Given the description of an element on the screen output the (x, y) to click on. 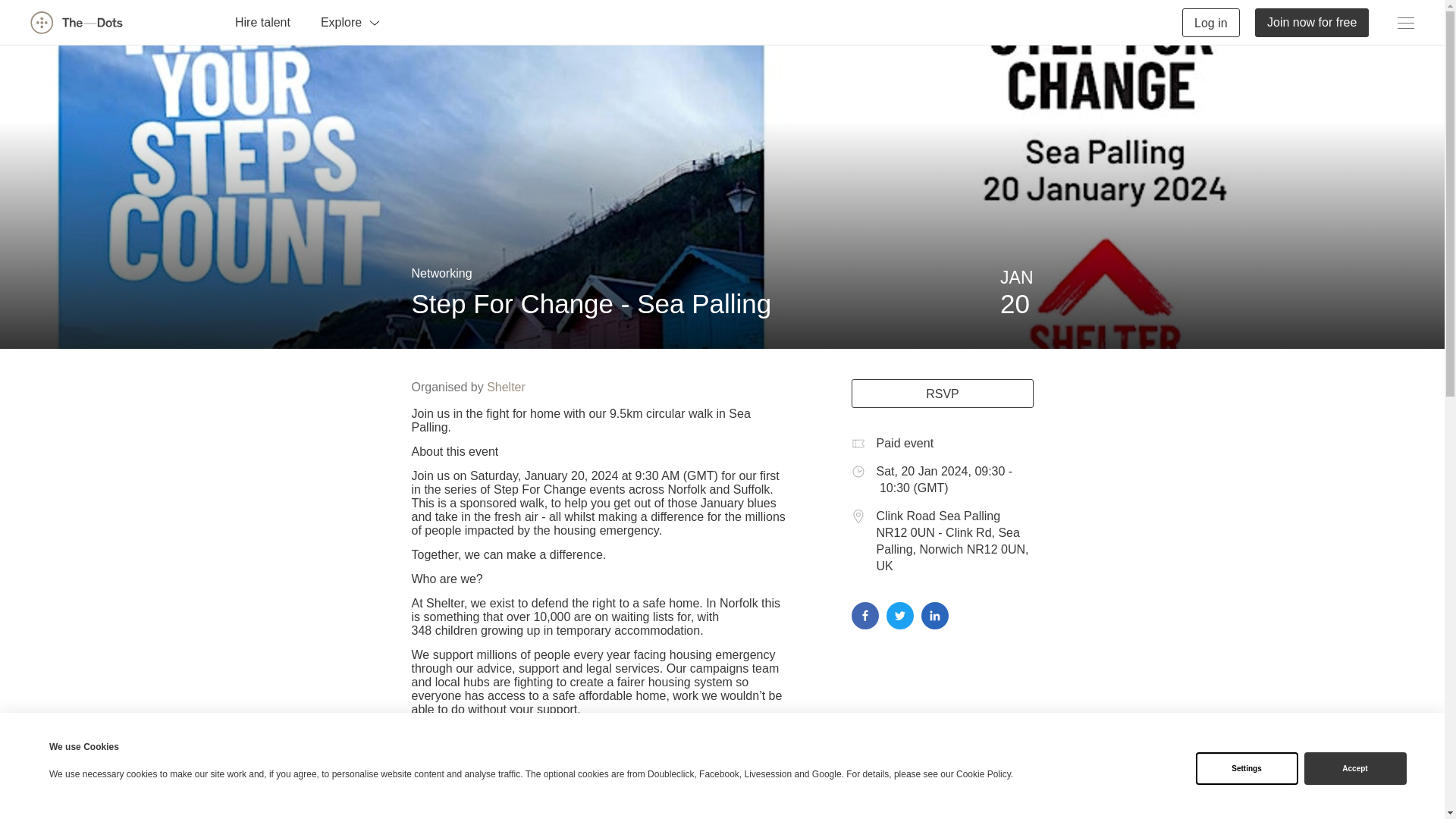
Join now for free (1311, 21)
Ticket (857, 443)
Shelter (505, 386)
Log in (1211, 21)
RSVP (941, 393)
Explore (350, 21)
Location (857, 516)
Step For Change - Sea Palling (590, 303)
Time (857, 471)
Hire talent (261, 21)
